Given the description of an element on the screen output the (x, y) to click on. 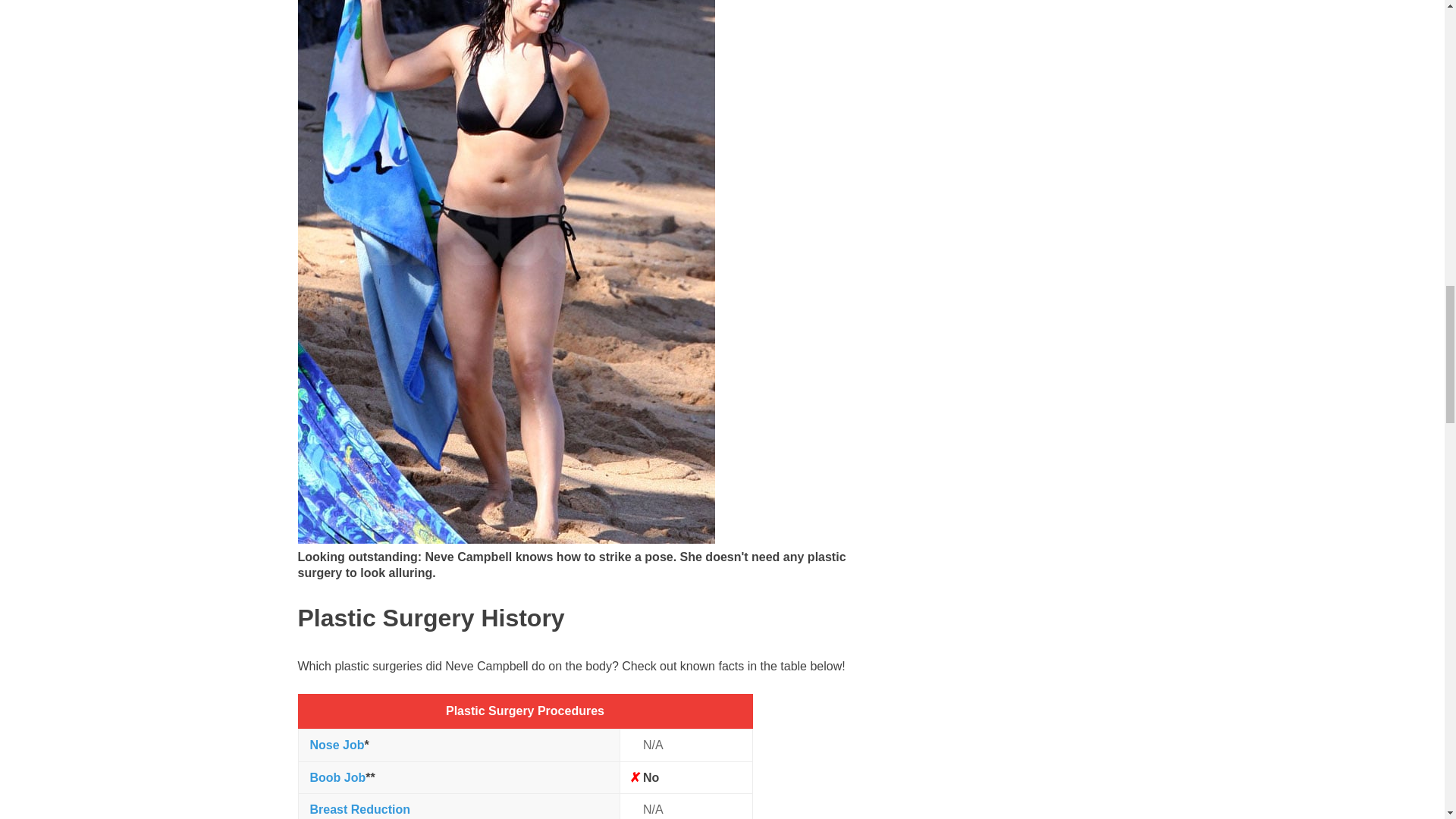
Boob Job (336, 777)
Nose Job (336, 744)
Breast Reduction (358, 809)
